Given the description of an element on the screen output the (x, y) to click on. 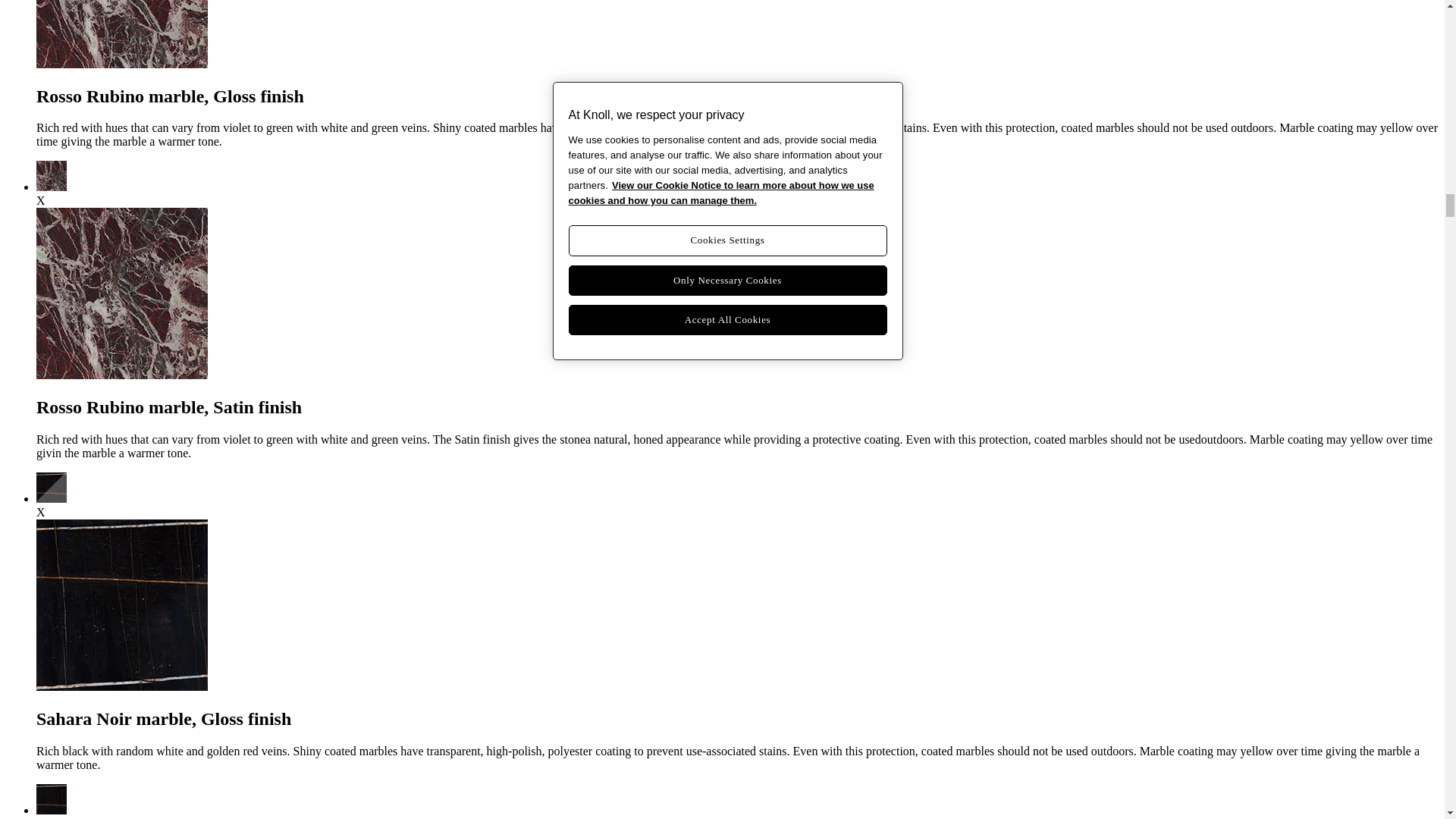
Sahara Noir marble, Satin finish (51, 809)
Rosso Rubino marble, Satin finish (51, 186)
Sahara Noir marble, Gloss finish (51, 498)
